Given the description of an element on the screen output the (x, y) to click on. 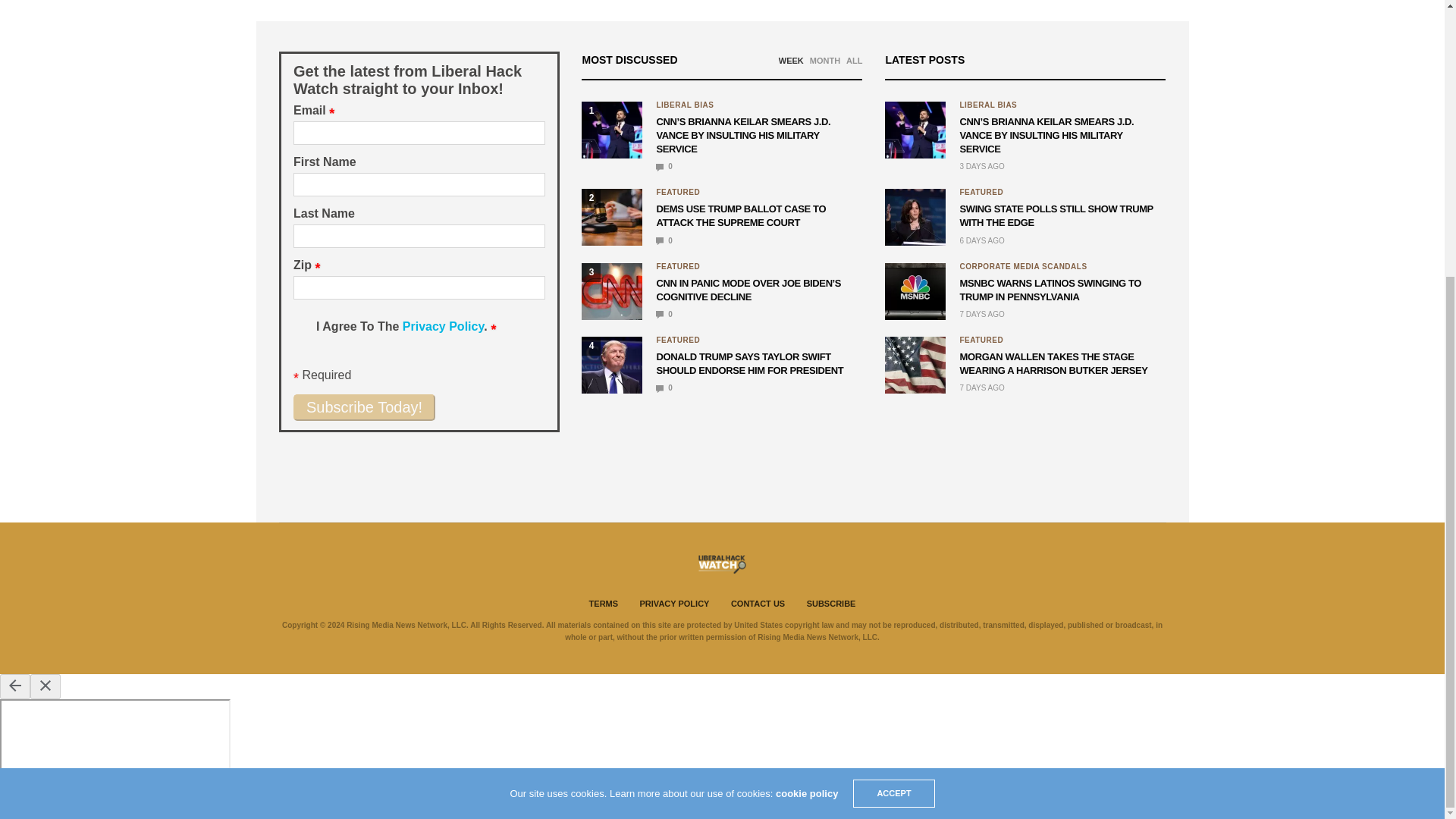
0 (663, 166)
FEATURED (678, 192)
LIBERAL BIAS (684, 104)
Featured (678, 266)
Dems Use Trump Ballot Case to Attack the Supreme Court (663, 240)
DEMS USE TRUMP BALLOT CASE TO ATTACK THE SUPREME COURT (740, 215)
FEATURED (678, 266)
0 (663, 240)
